Given the description of an element on the screen output the (x, y) to click on. 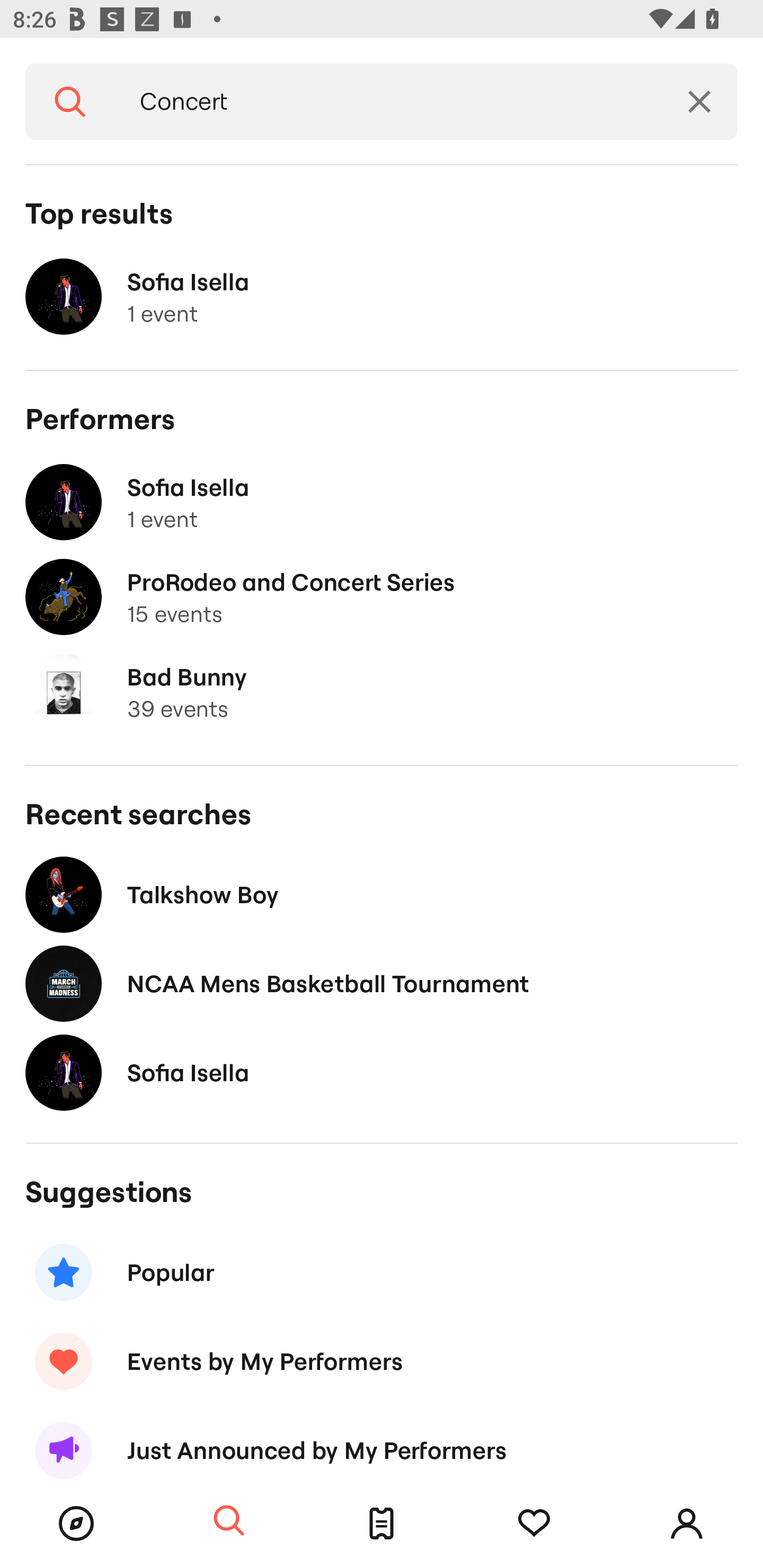
Search (69, 101)
Concert (387, 101)
Clear (699, 101)
Sofia Isella 1 event (381, 296)
Sofia Isella 1 event (381, 502)
ProRodeo and Concert Series 15 events (381, 597)
Bad Bunny 39 events (381, 692)
Talkshow Boy (381, 894)
NCAA Mens Basketball Tournament (381, 983)
Sofia Isella (381, 1072)
Popular (381, 1272)
Events by My Performers (381, 1361)
Just Announced by My Performers (381, 1442)
Browse (76, 1523)
Search (228, 1521)
Tickets (381, 1523)
Tracking (533, 1523)
Account (686, 1523)
